Given the description of an element on the screen output the (x, y) to click on. 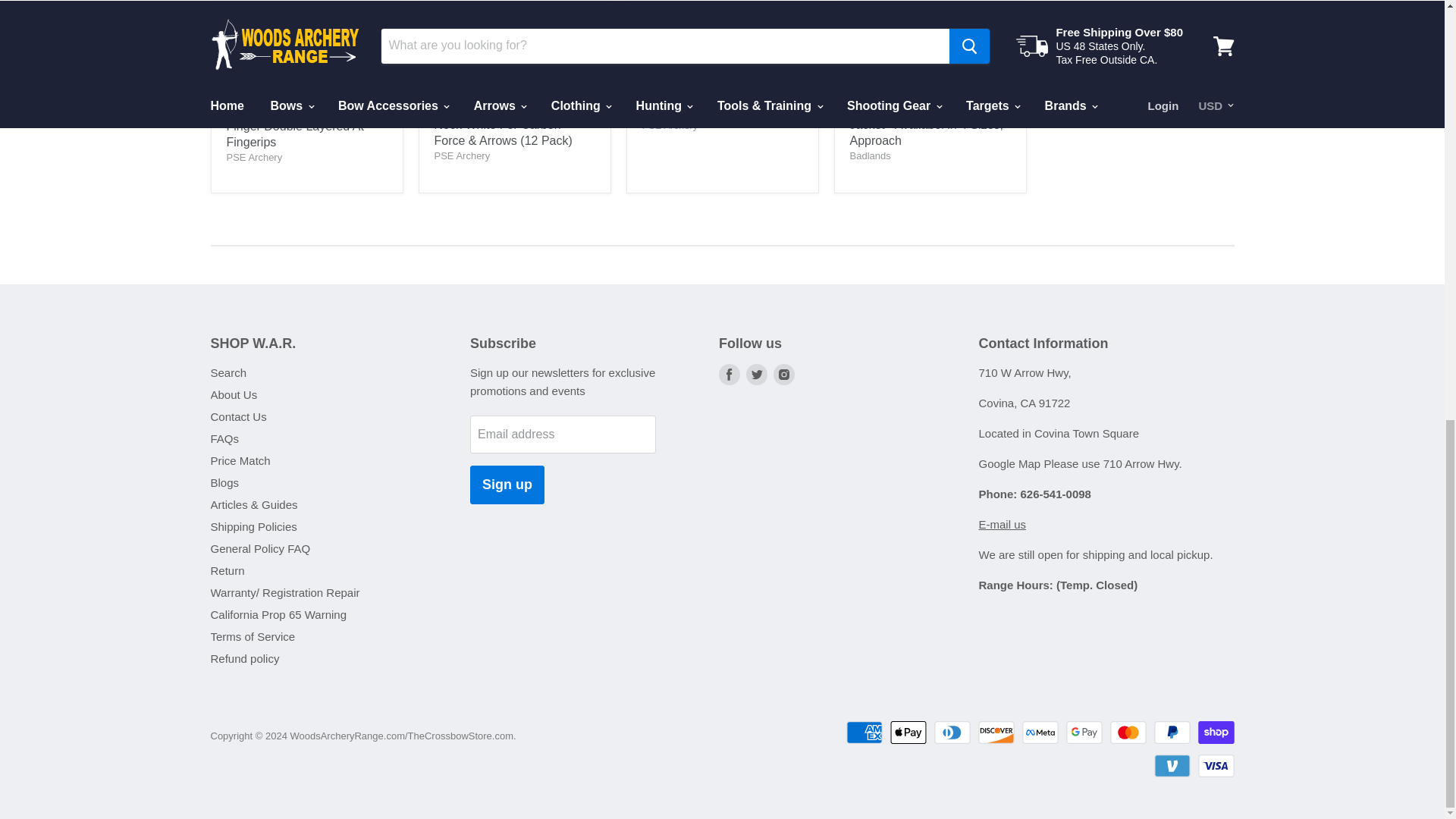
Instagram (783, 374)
Twitter (756, 374)
Contact Us (1002, 523)
Facebook (729, 374)
